Given the description of an element on the screen output the (x, y) to click on. 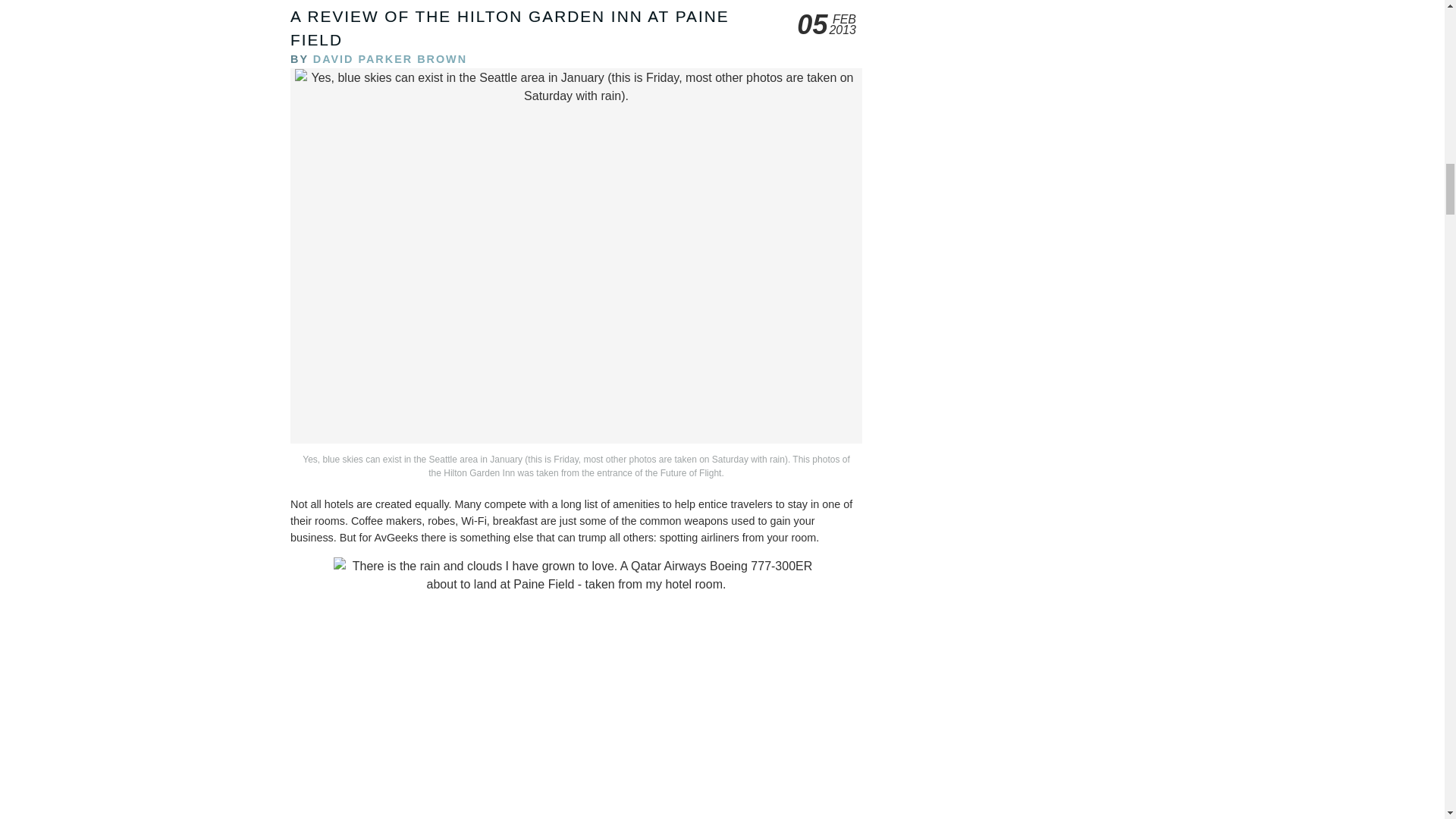
A Review of the Hilton Garden Inn at Paine Field (509, 27)
Posts by David Parker Brown (390, 59)
